Given the description of an element on the screen output the (x, y) to click on. 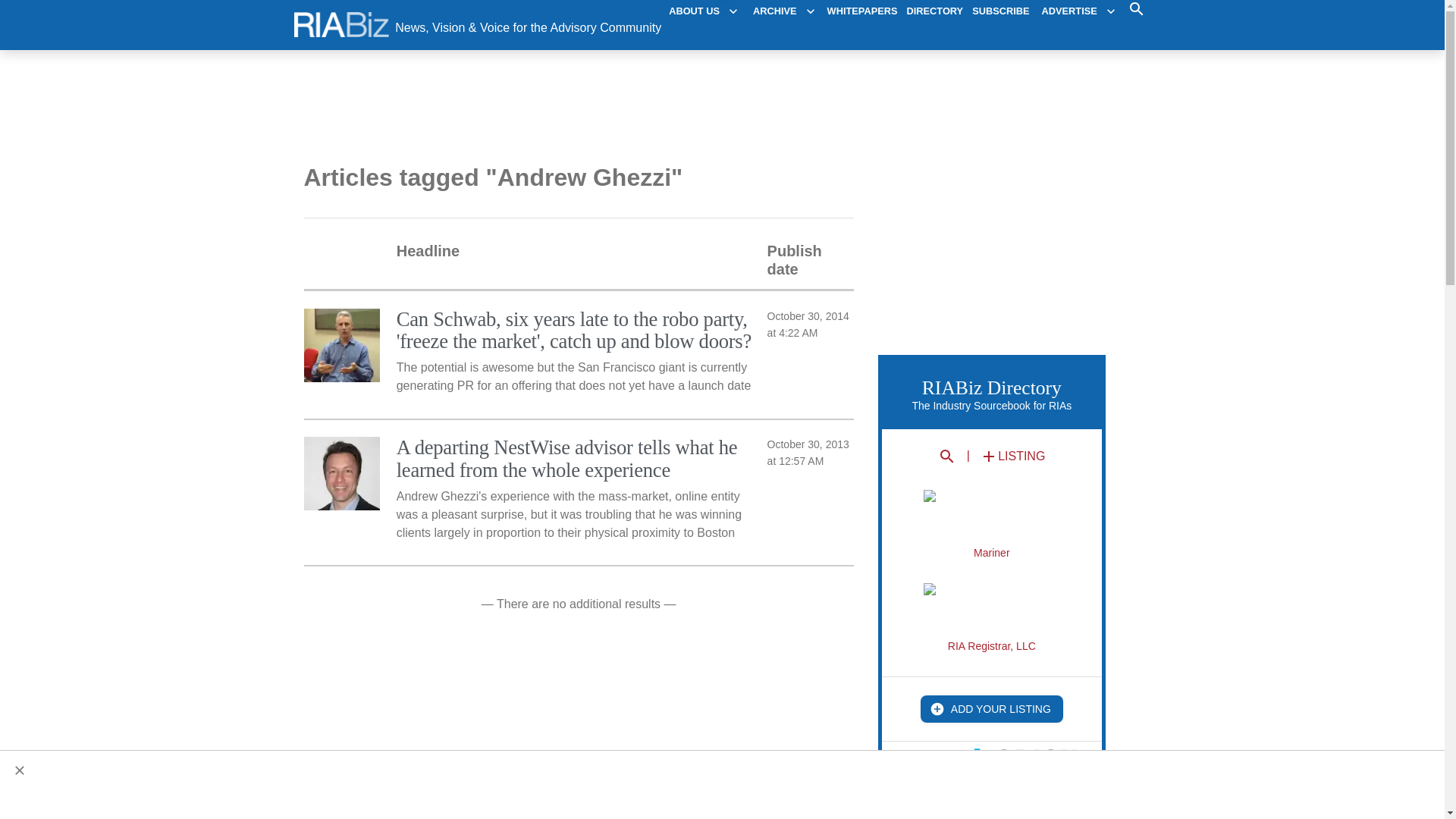
Mariner (991, 523)
SUBSCRIBE (1000, 10)
ARCHIVE (783, 10)
RIA Registrar, LLC (991, 617)
WHITEPAPERS (862, 10)
ABOUT US (703, 10)
ADD YOUR LISTING (991, 709)
ADVERTISE (1078, 10)
